Given the description of an element on the screen output the (x, y) to click on. 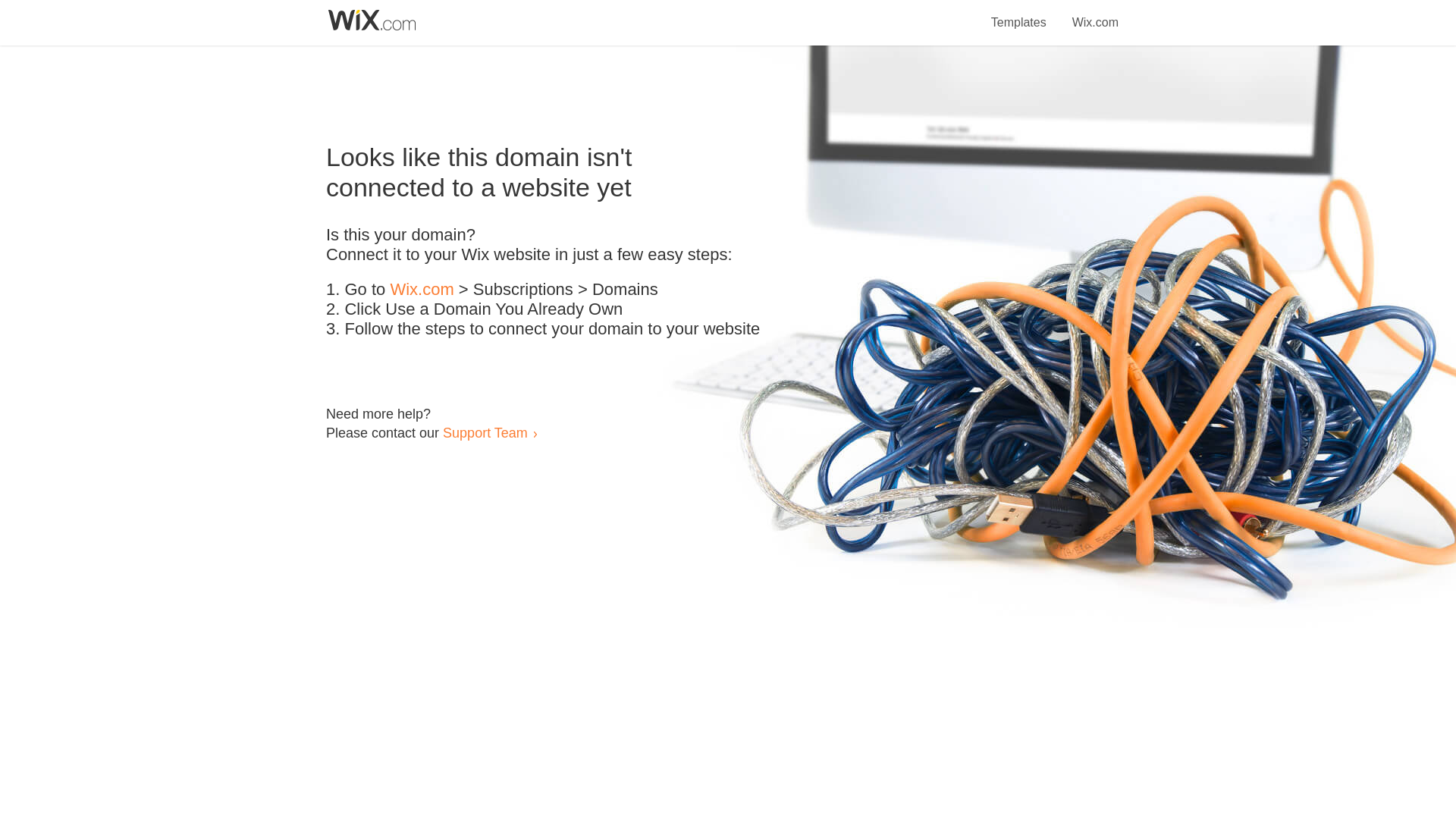
Support Team (484, 432)
Templates (1018, 14)
Wix.com (1095, 14)
Wix.com (421, 289)
